Given the description of an element on the screen output the (x, y) to click on. 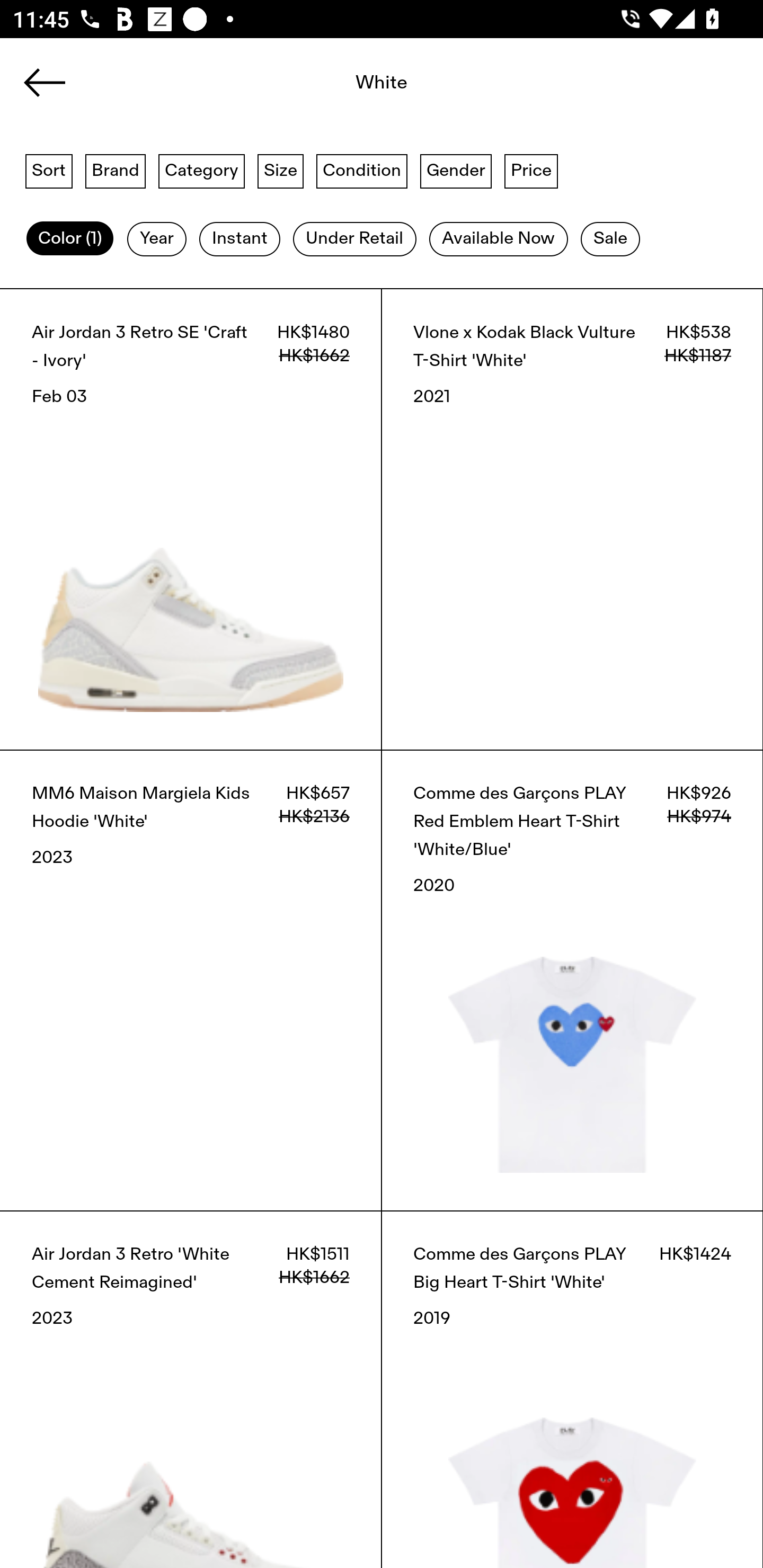
Sort (48, 170)
Brand (115, 170)
Category (201, 170)
Size (280, 170)
Condition (361, 170)
Gender (455, 170)
Price (530, 170)
Color (1) (69, 239)
Year (156, 239)
Instant (239, 239)
Under Retail (354, 239)
Available Now (497, 239)
Sale (610, 239)
